Given the description of an element on the screen output the (x, y) to click on. 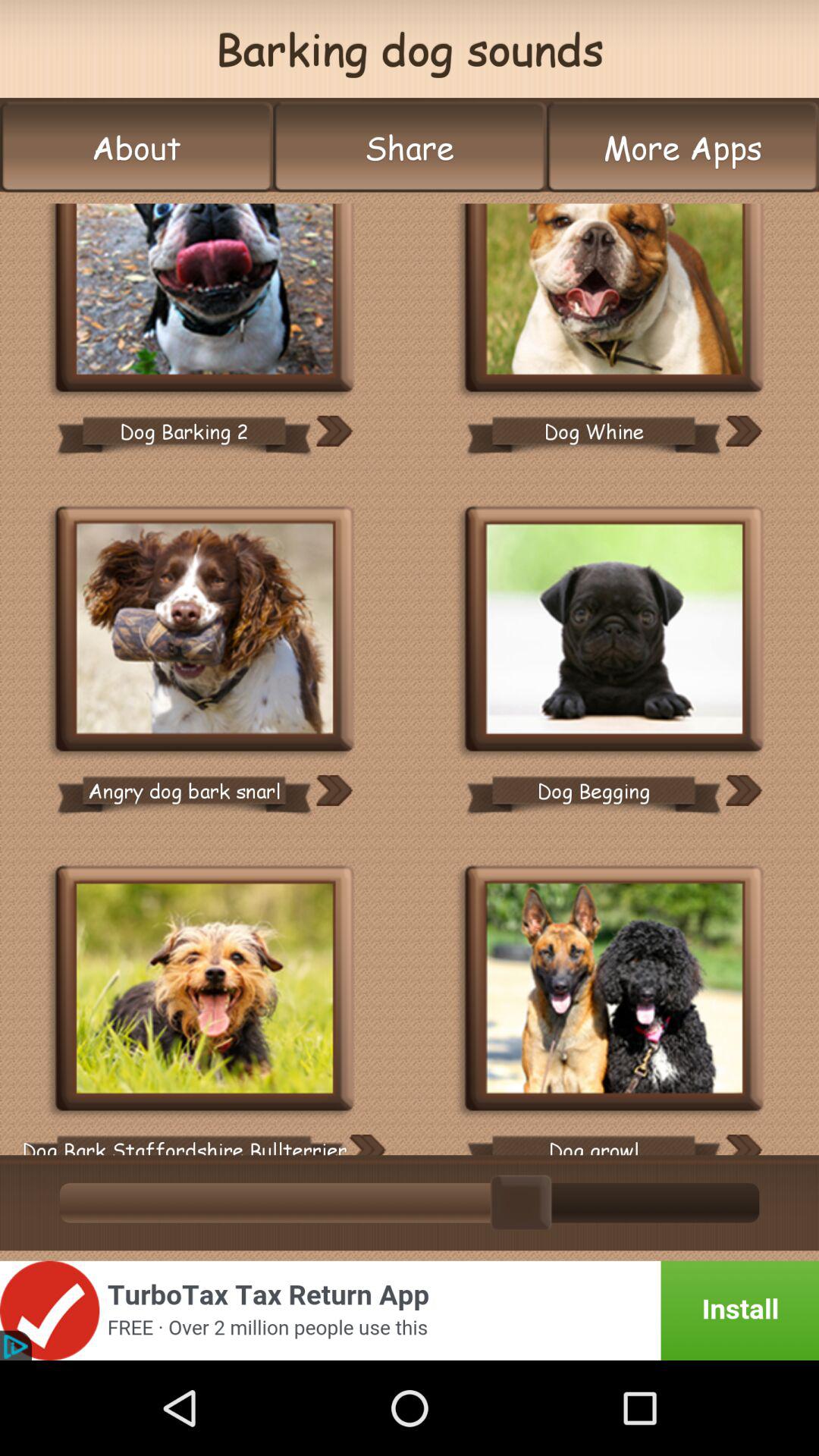
turn on app below the barking dog sounds item (682, 147)
